Given the description of an element on the screen output the (x, y) to click on. 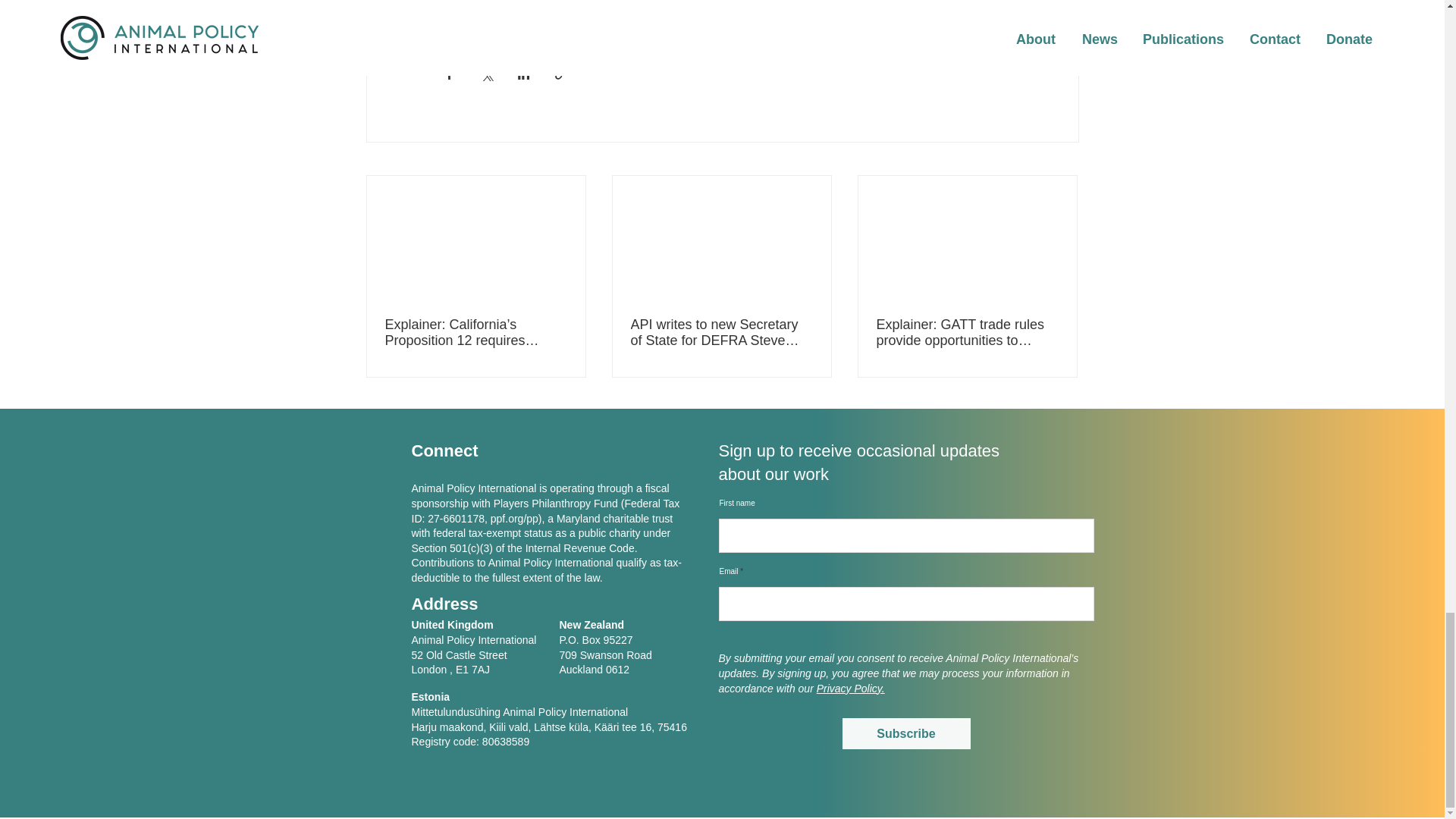
Subscribe (905, 733)
Privacy Policy. (850, 688)
